Given the description of an element on the screen output the (x, y) to click on. 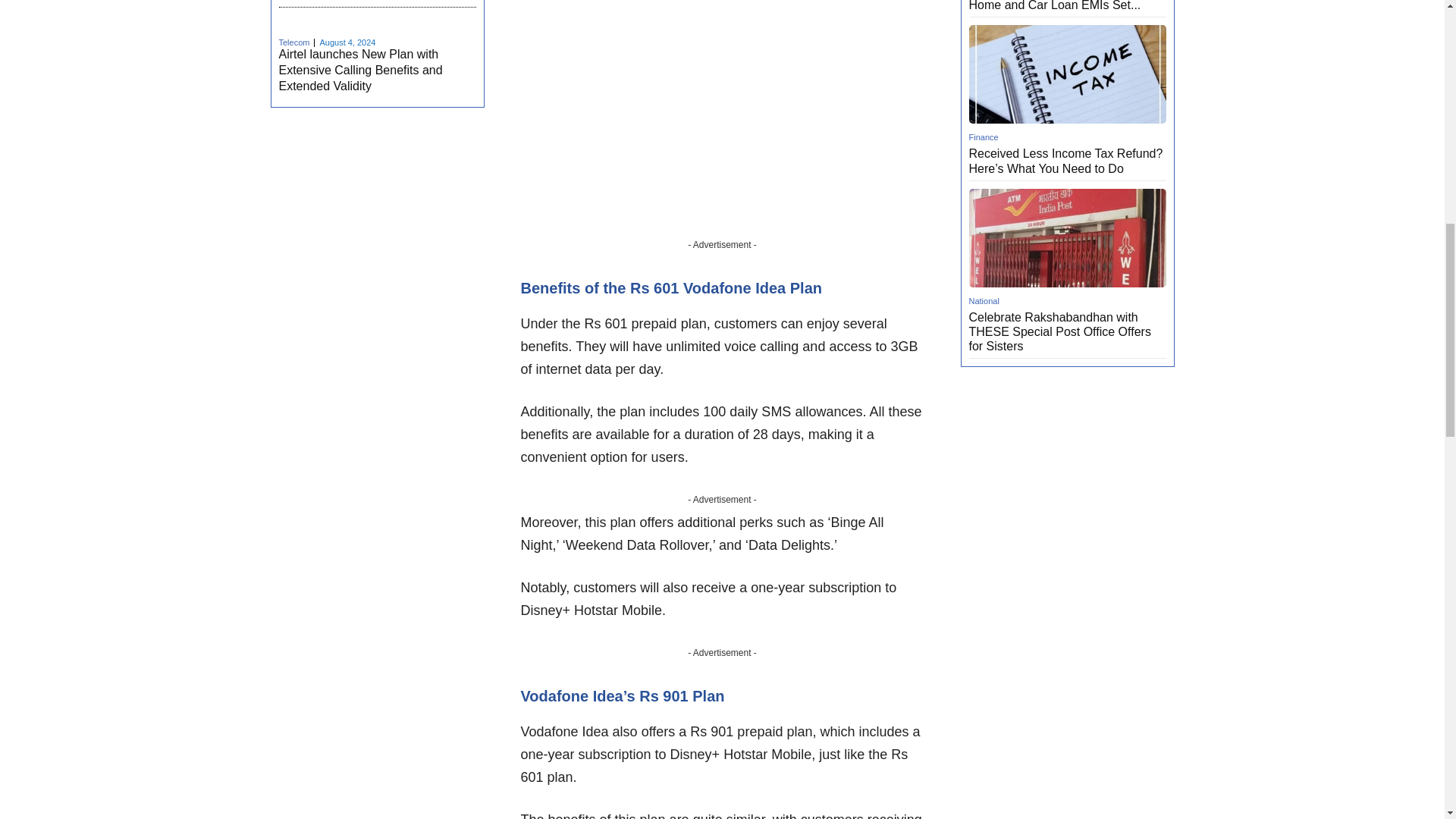
Advertisement (721, 127)
